Given the description of an element on the screen output the (x, y) to click on. 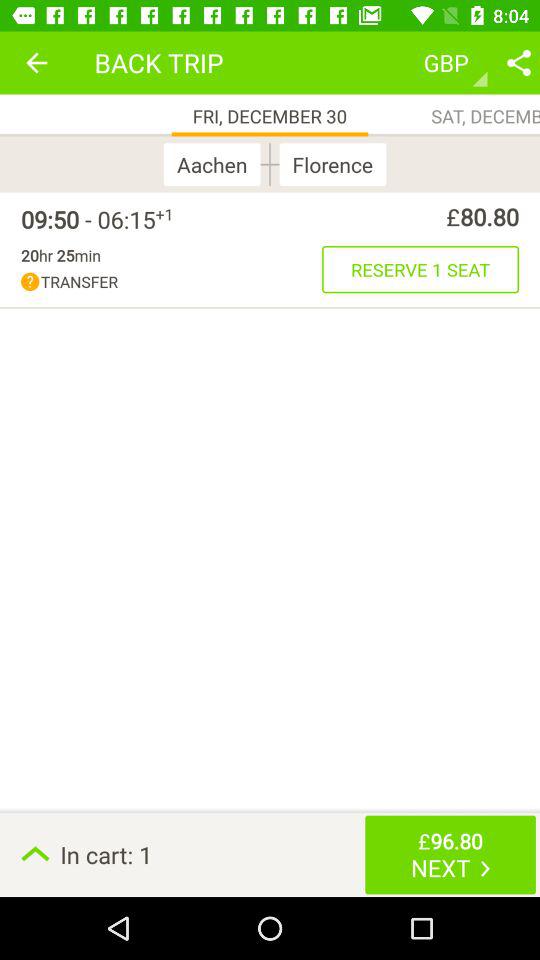
turn on the icon below the fri, december 30 item (269, 164)
